Given the description of an element on the screen output the (x, y) to click on. 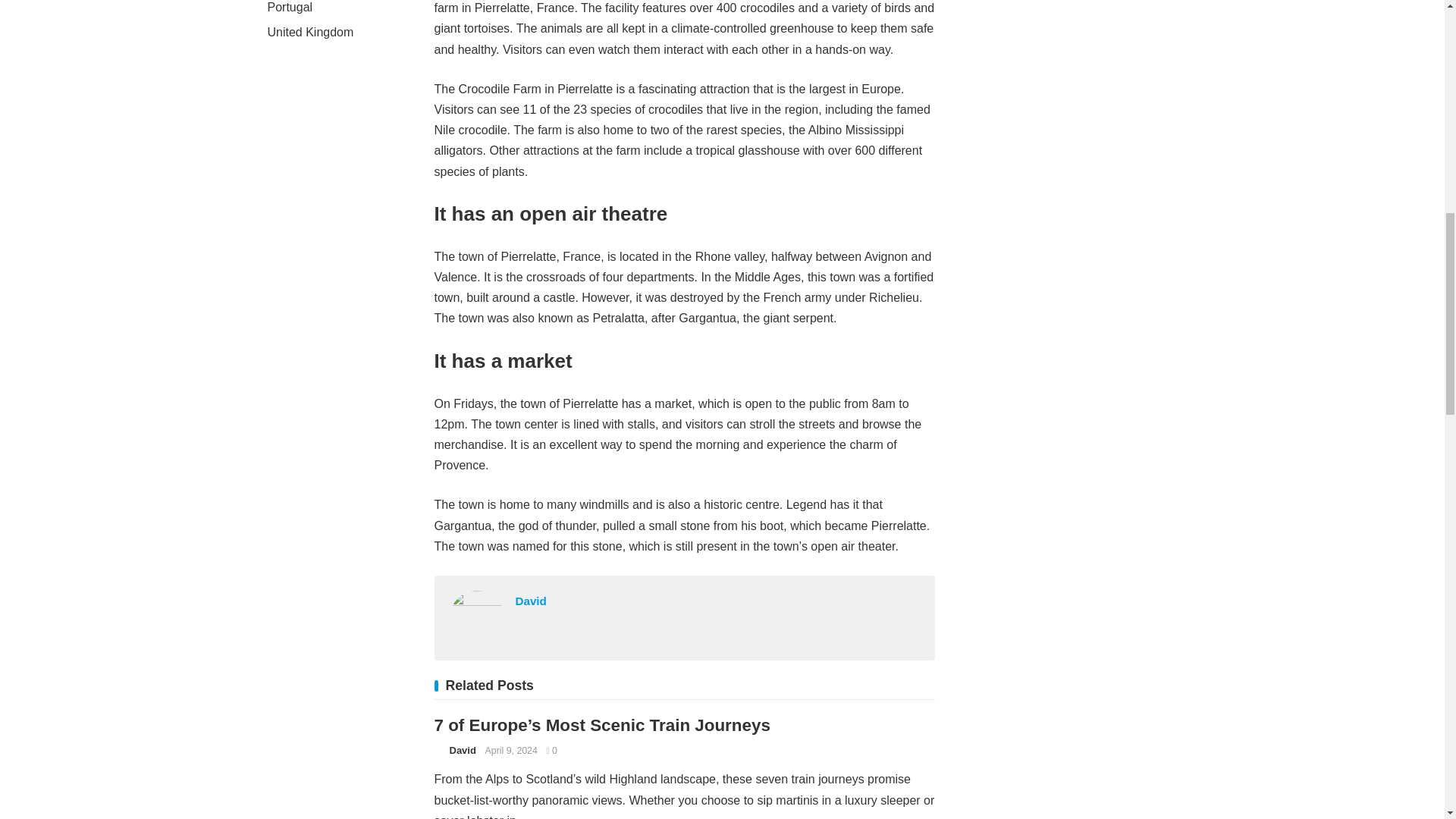
0 (551, 750)
Posts by David (462, 749)
David (531, 600)
David (462, 749)
